Given the description of an element on the screen output the (x, y) to click on. 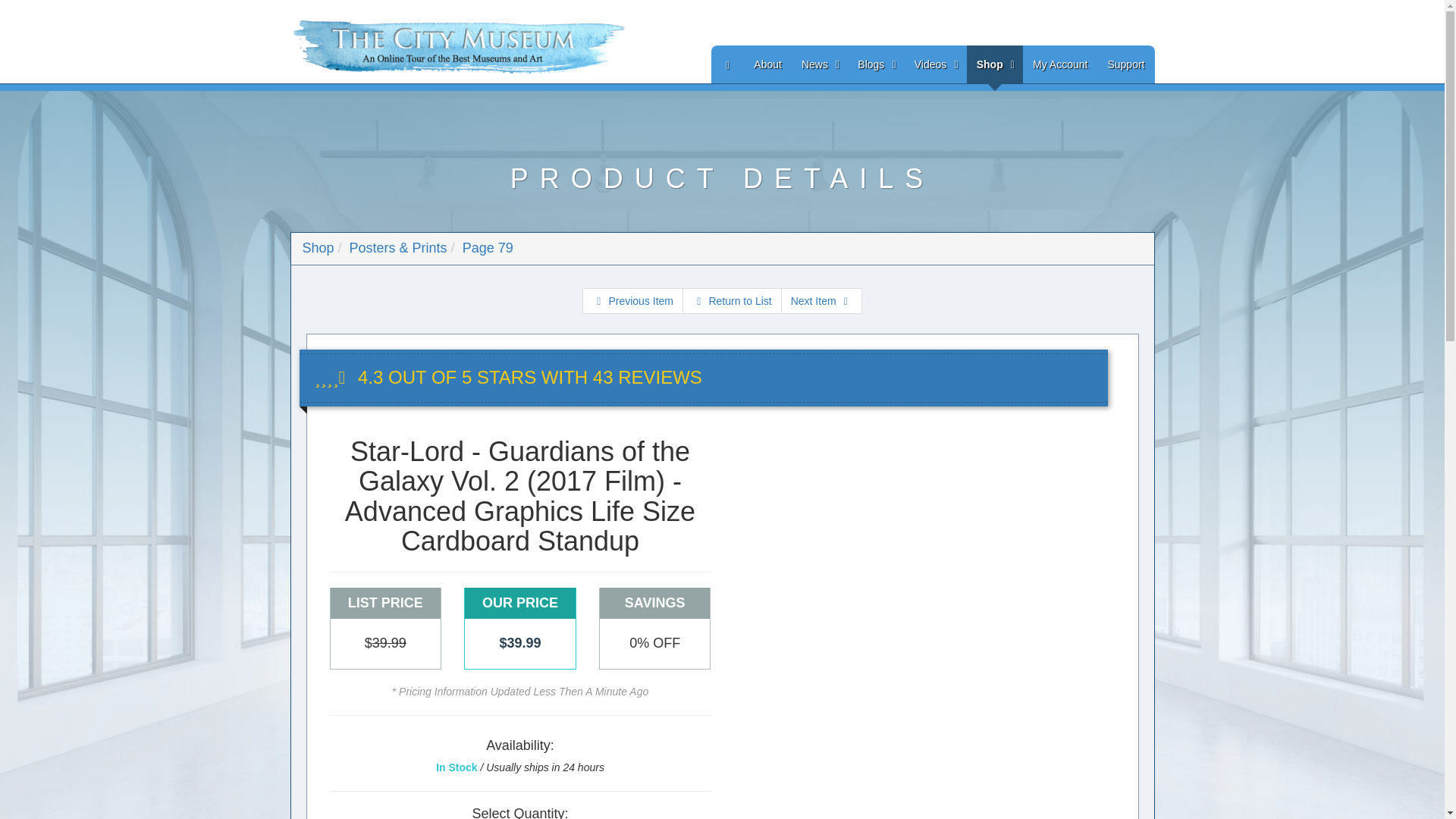
Shop (317, 247)
Page 79 (488, 247)
Support (1125, 64)
Videos (935, 64)
News (819, 64)
My Account (1060, 64)
Blogs (875, 64)
About (768, 64)
Return to List (731, 300)
Next Item (820, 300)
Shop (994, 64)
Previous Item (632, 300)
